Given the description of an element on the screen output the (x, y) to click on. 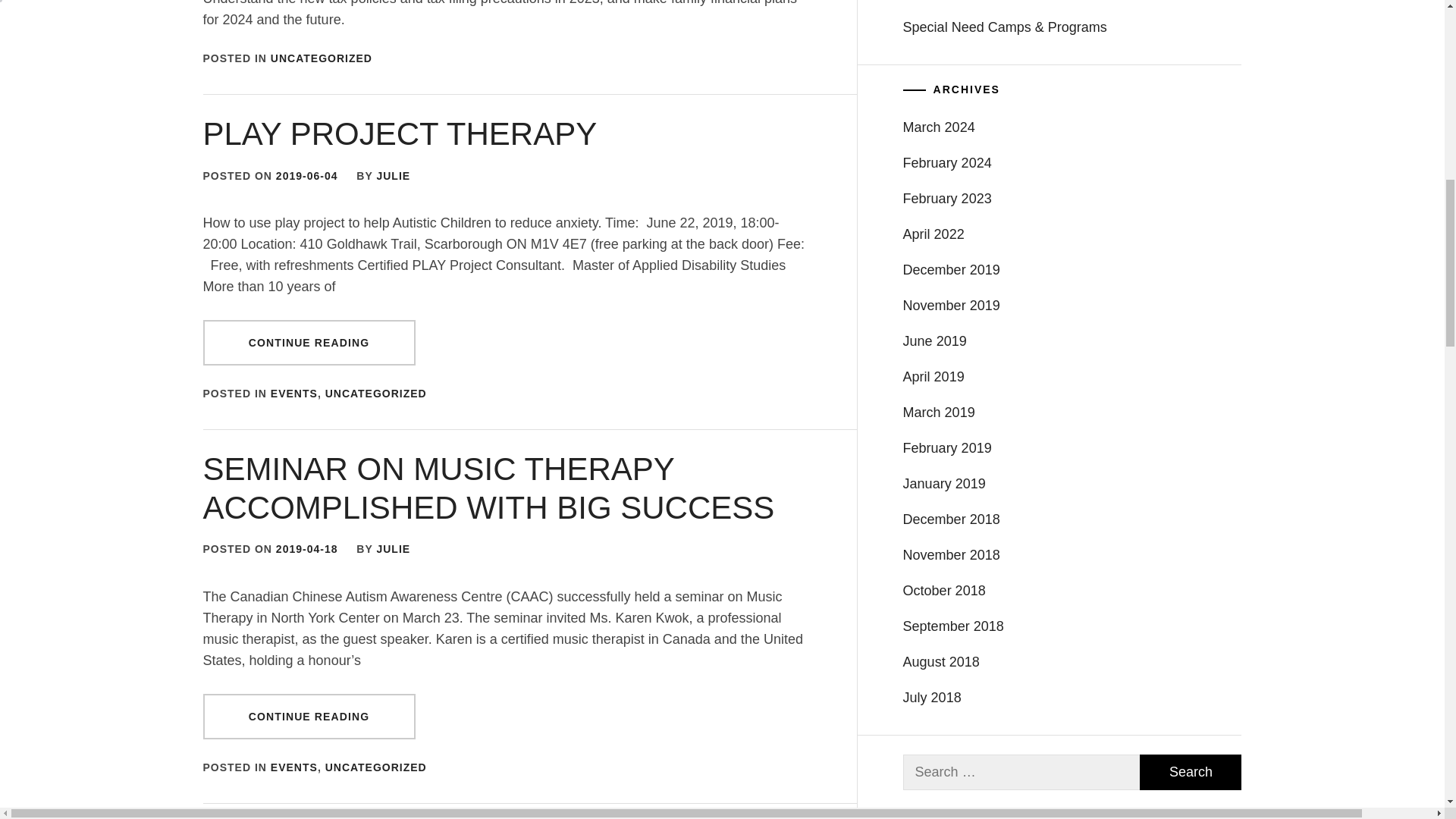
UNCATEGORIZED (375, 393)
2019-04-18 (306, 548)
UNCATEGORIZED (375, 767)
SEMINAR ON MUSIC THERAPY ACCOMPLISHED WITH BIG SUCCESS (488, 487)
PLAY PROJECT THERAPY (399, 133)
2019-06-04 (306, 175)
UNCATEGORIZED (321, 58)
JULIE (392, 548)
Search (1190, 772)
Search (1190, 772)
